Given the description of an element on the screen output the (x, y) to click on. 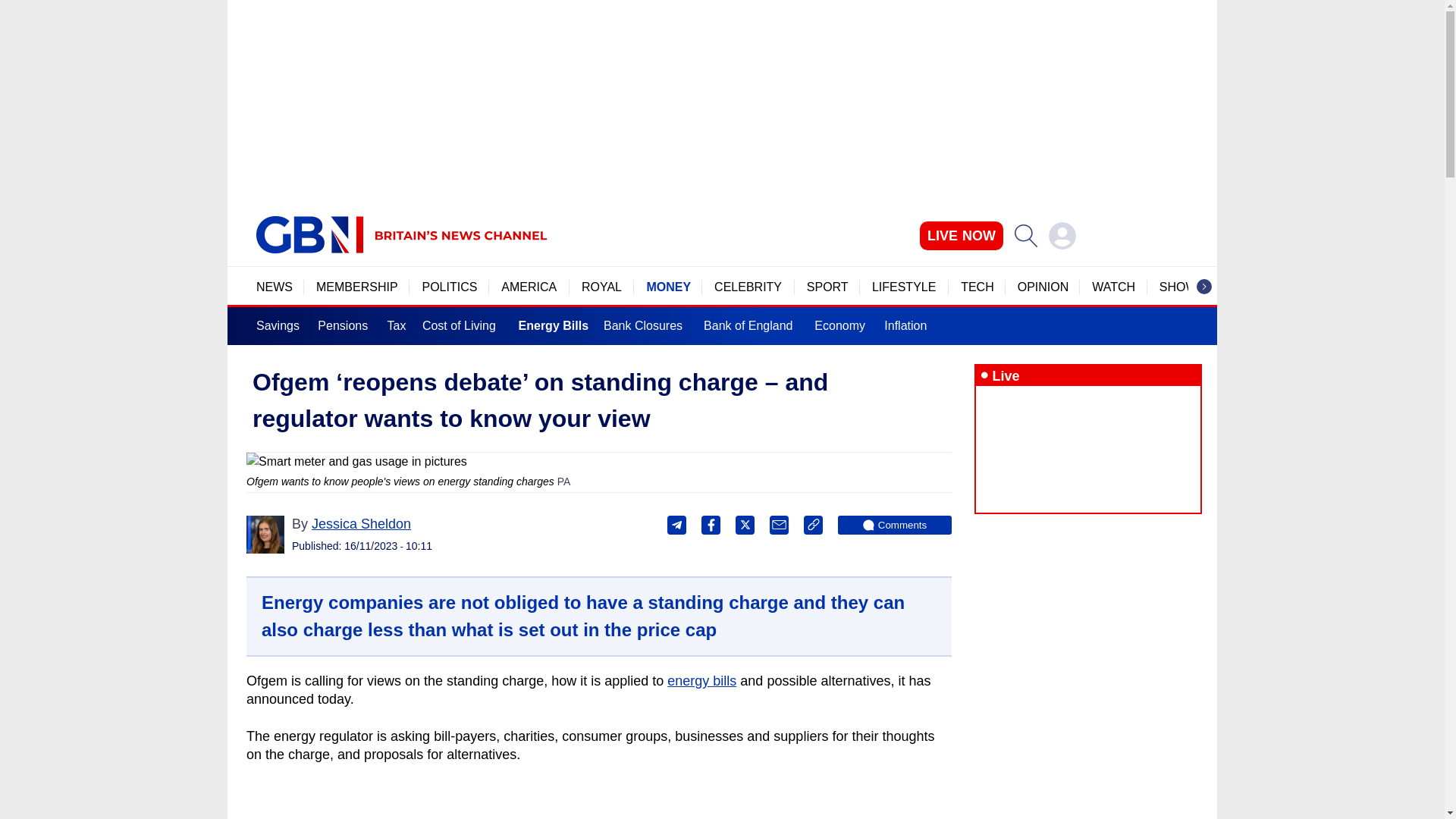
Search (1025, 235)
LIVE (961, 235)
Copy this link to clipboard (812, 524)
GBN Britain's News Channel (310, 235)
Jessica Sheldon (264, 534)
Jessica Sheldon (360, 523)
